Given the description of an element on the screen output the (x, y) to click on. 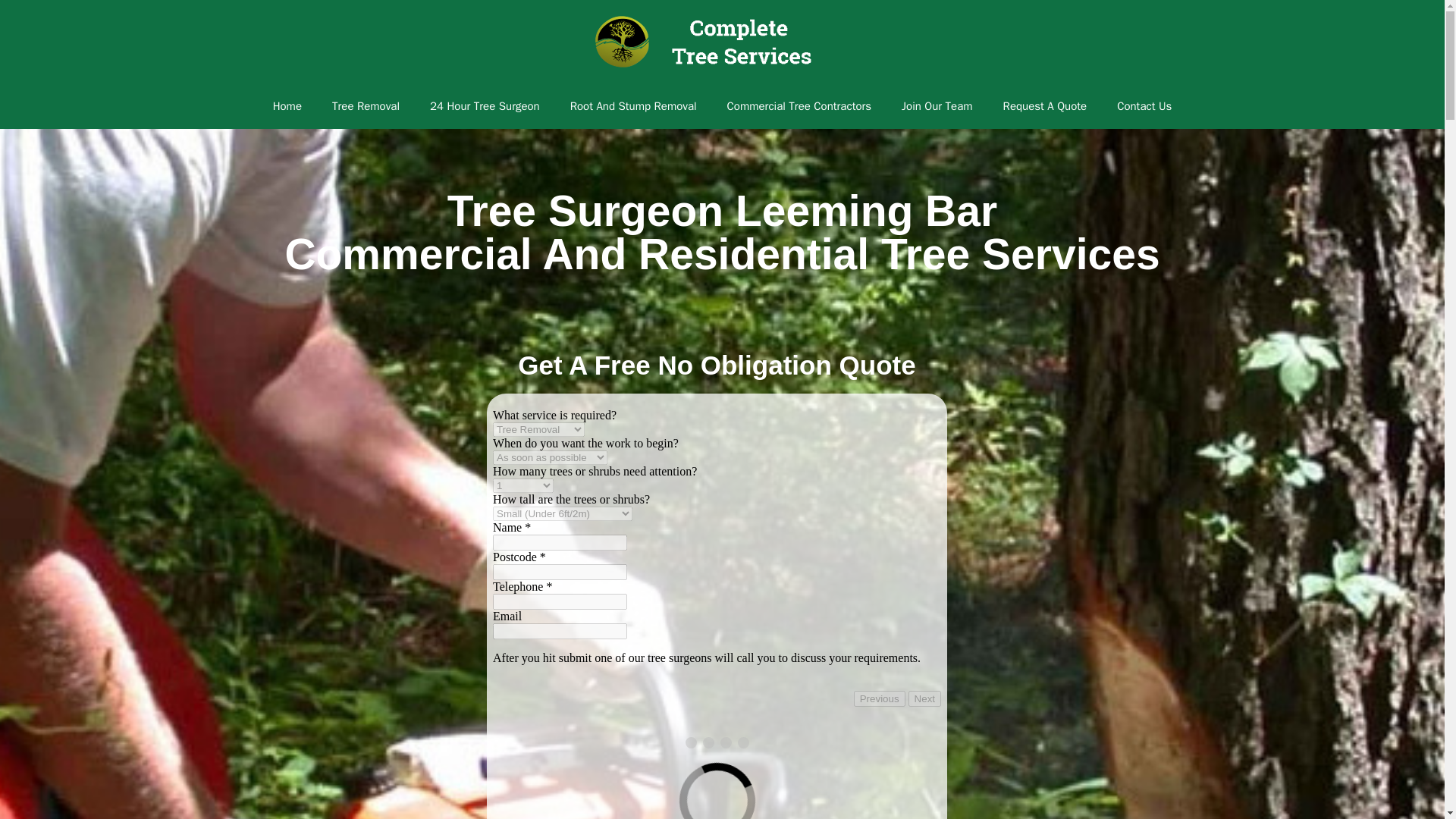
Commercial Tree Contractors (798, 105)
Tree Removal (365, 105)
Root And Stump Removal (632, 105)
Request A Quote (1045, 105)
Home (287, 105)
Contact Us (1144, 105)
24 Hour Tree Surgeon (484, 105)
Join Our Team (936, 105)
